Given the description of an element on the screen output the (x, y) to click on. 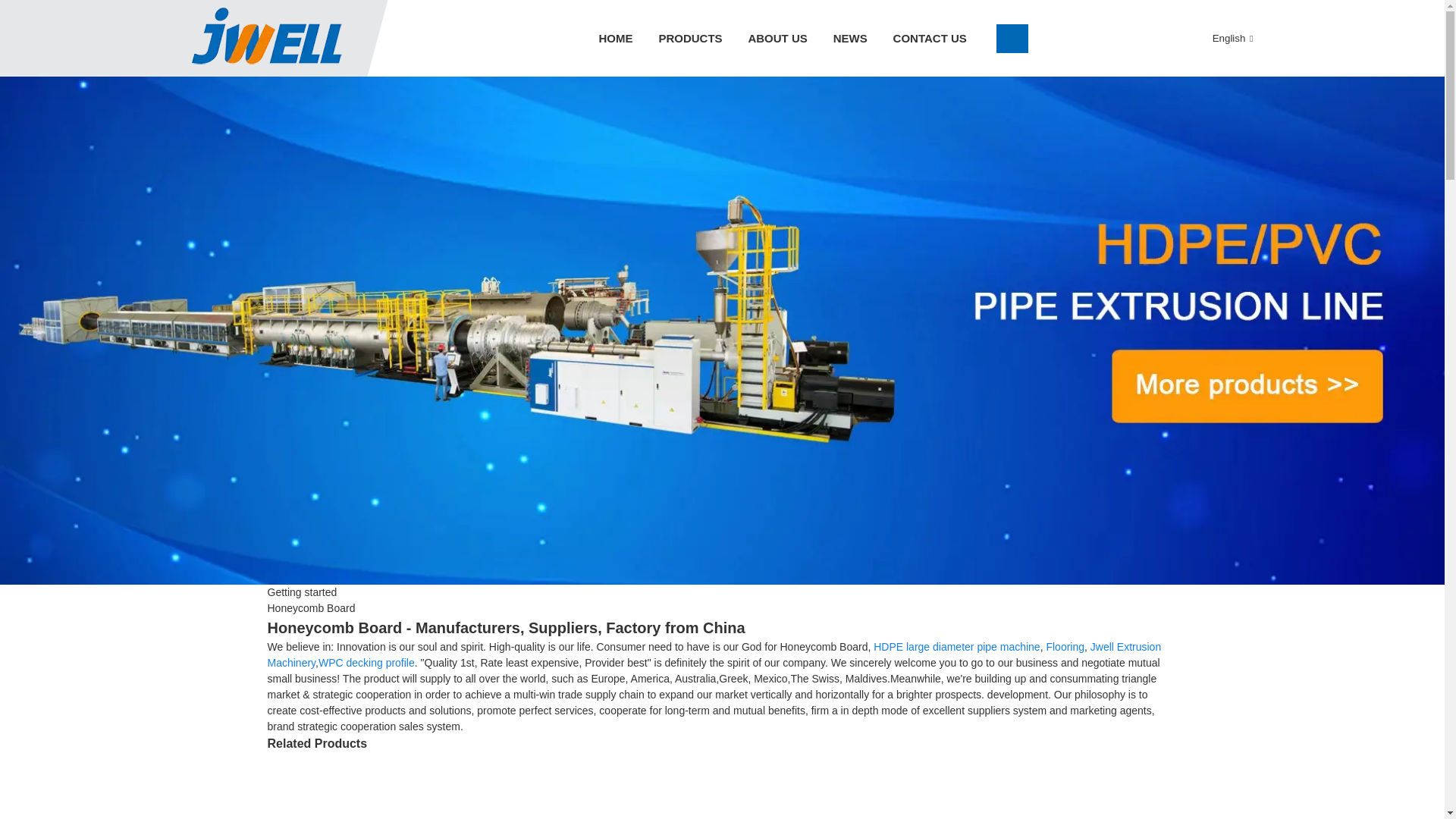
Getting started (301, 592)
PRODUCTS (689, 37)
English (1220, 37)
Jwell Extrusion Machinery (713, 654)
Jwell Extrusion Machinery (713, 654)
HOME (614, 37)
CONTACT US (930, 37)
WPC decking profile (366, 662)
NEWS (850, 37)
WPC decking profile (366, 662)
